Given the description of an element on the screen output the (x, y) to click on. 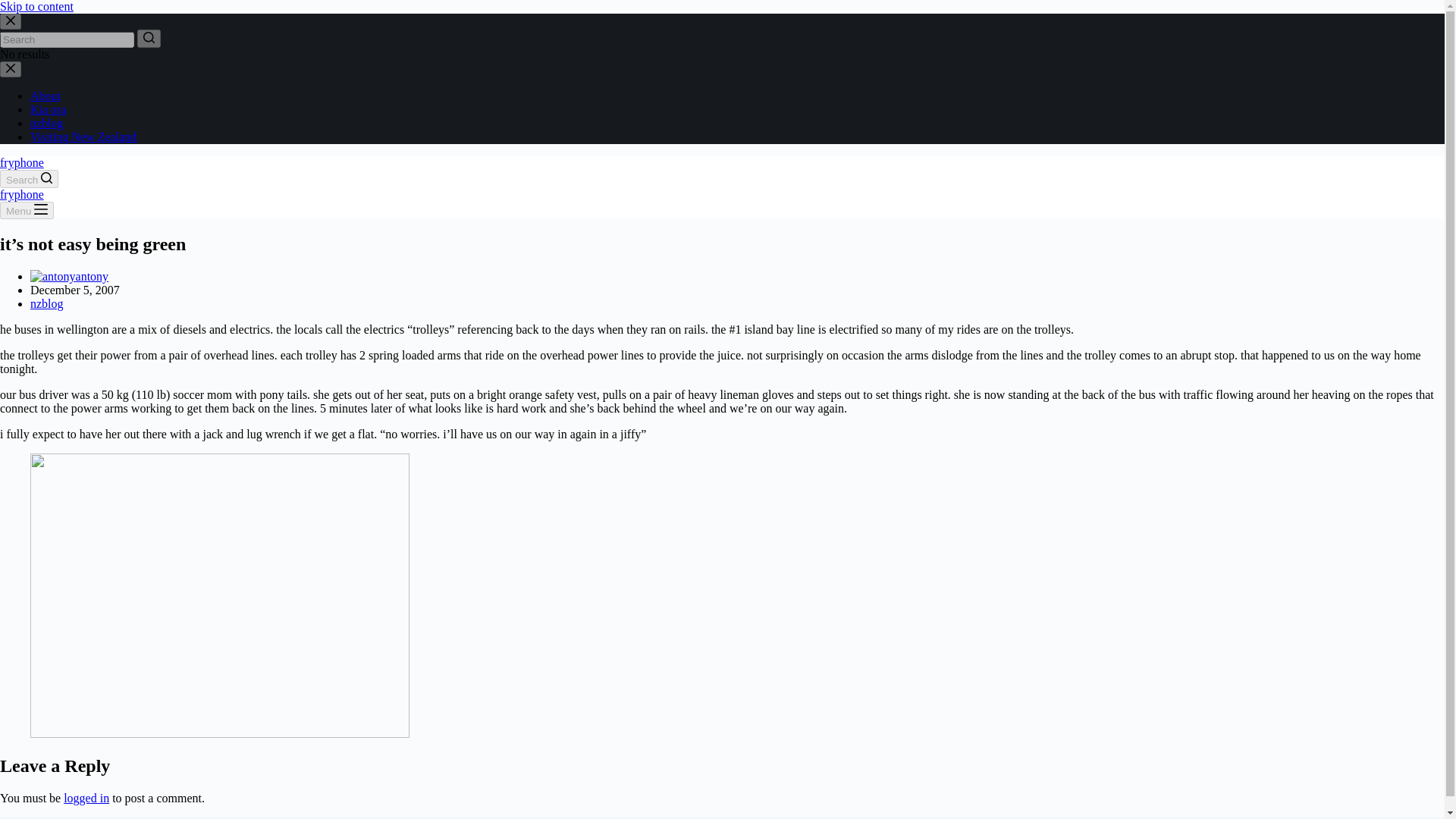
logged in (86, 797)
Menu (26, 210)
fryphone (21, 194)
Search for... (66, 39)
Kia ora (48, 109)
Search (29, 178)
antony (92, 276)
nzblog (47, 303)
About (45, 95)
Posts by antony (92, 276)
